Given the description of an element on the screen output the (x, y) to click on. 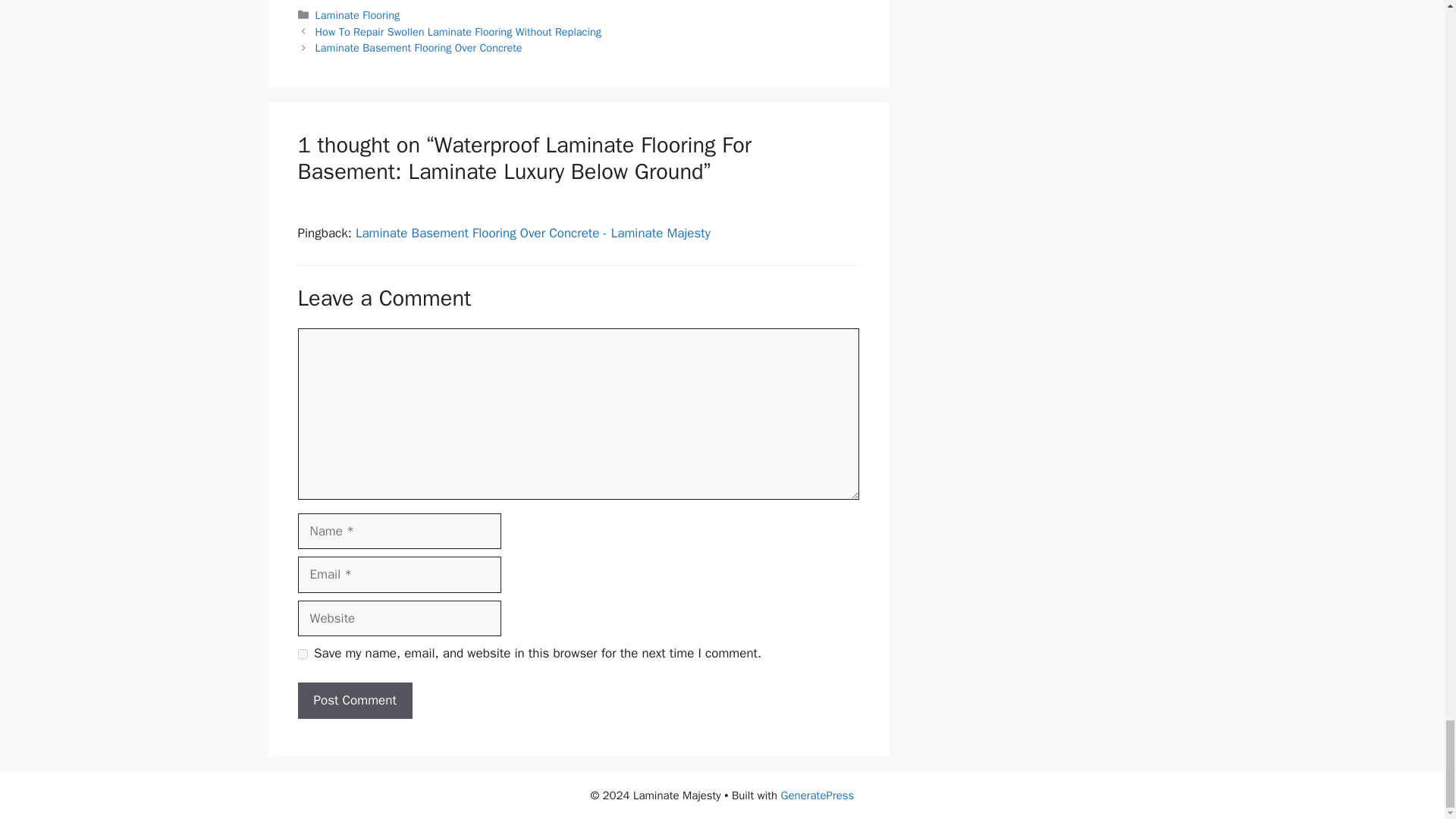
How To Repair Swollen Laminate Flooring Without Replacing (458, 31)
Laminate Basement Flooring Over Concrete - Laminate Majesty (532, 232)
GeneratePress (817, 795)
yes (302, 654)
Laminate Flooring (357, 15)
Post Comment (354, 700)
Laminate Basement Flooring Over Concrete (418, 47)
Post Comment (354, 700)
